Given the description of an element on the screen output the (x, y) to click on. 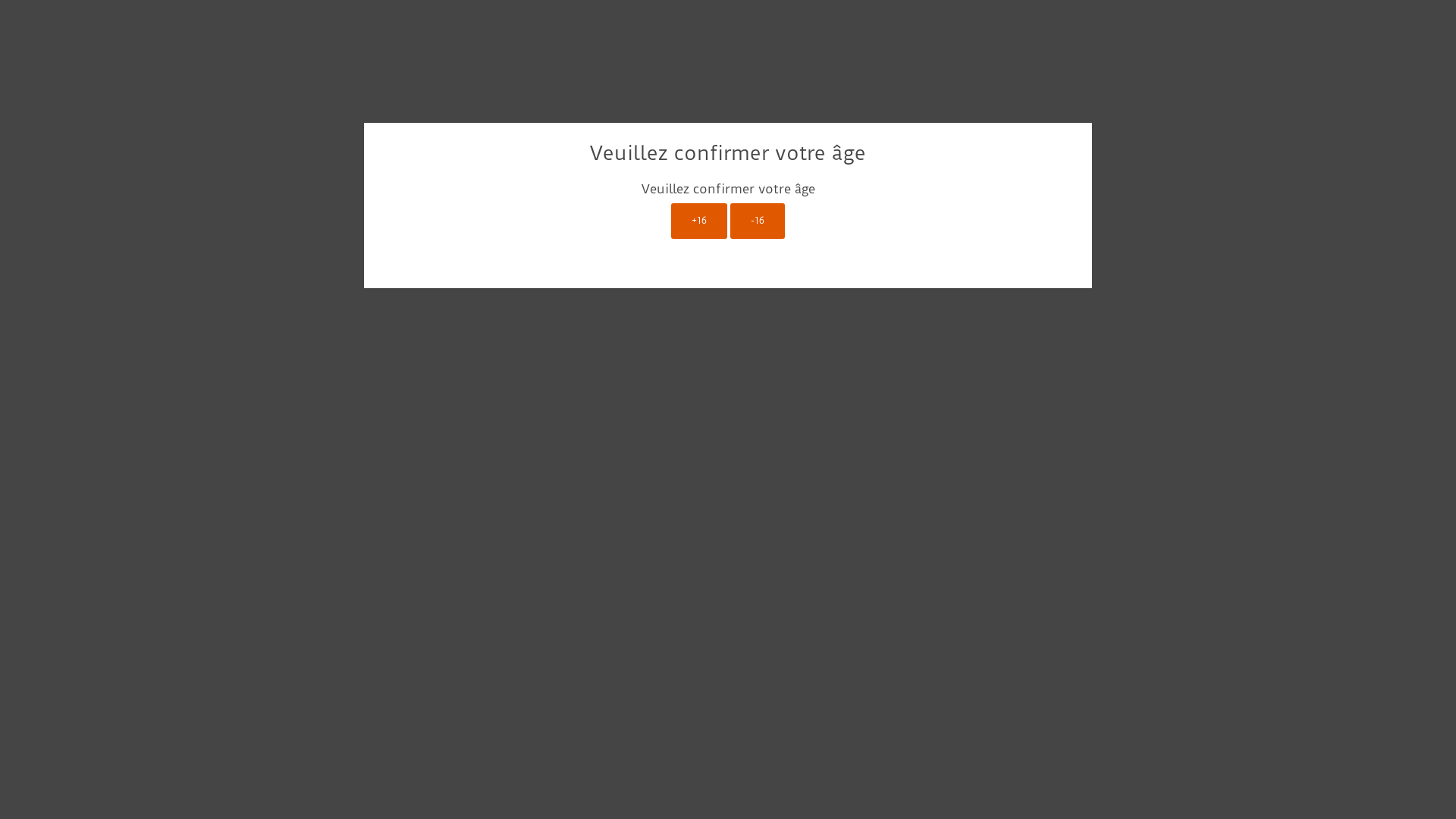
+16 Element type: text (699, 220)
-16 Element type: text (757, 220)
